Given the description of an element on the screen output the (x, y) to click on. 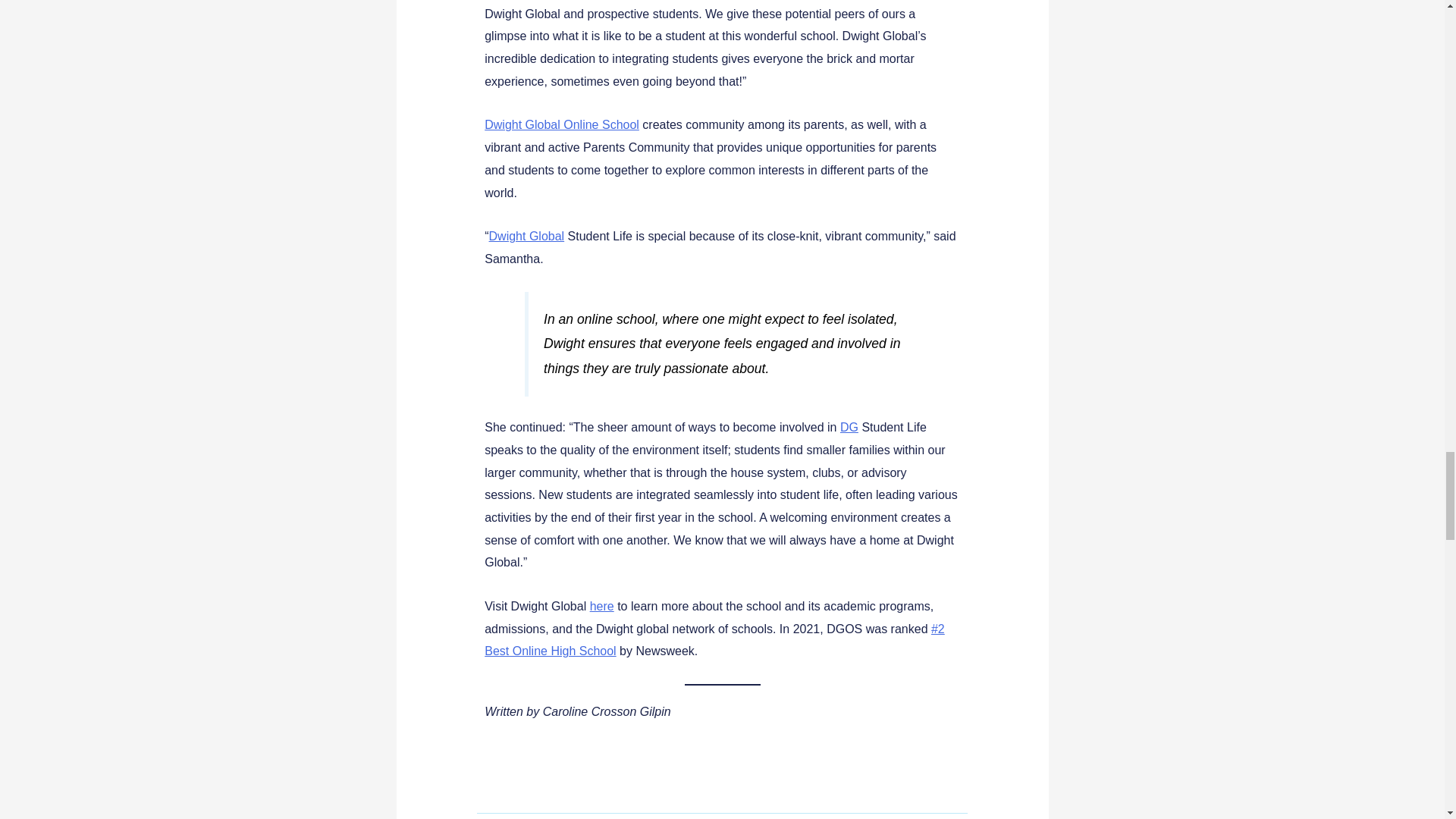
DG (849, 427)
Dwight Global Online School (561, 124)
here (601, 605)
Dwight Global (526, 236)
